Given the description of an element on the screen output the (x, y) to click on. 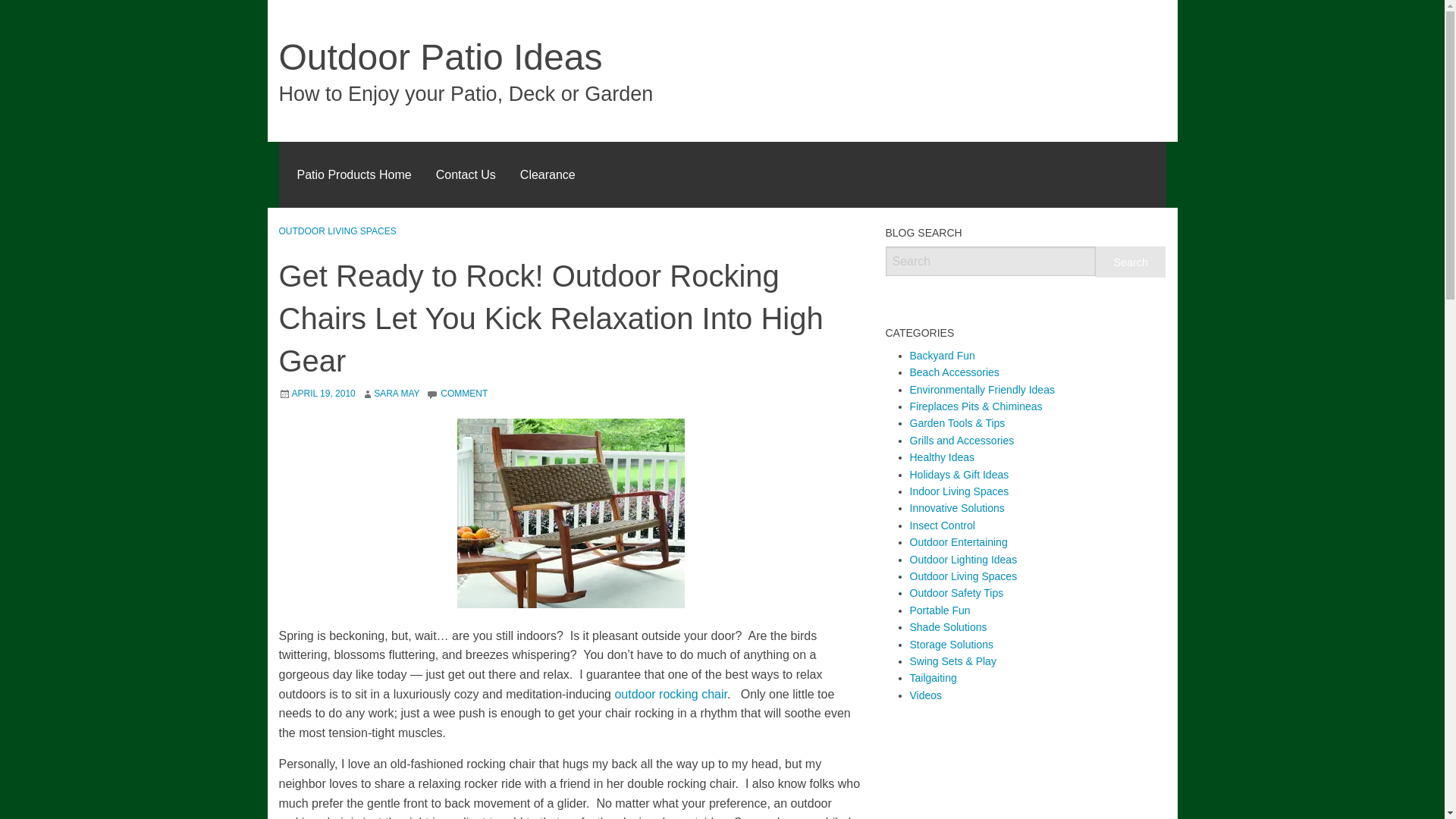
Healthy Ideas (942, 457)
outdoor rocking chair (670, 694)
COMMENT (464, 393)
Innovative Solutions (957, 508)
Outdoor Patio Ideas (440, 56)
APRIL 19, 2010 (323, 393)
Indoor Living Spaces (959, 491)
Clearance (548, 174)
Grills and Accessories (962, 440)
Contact Us (465, 174)
